Given the description of an element on the screen output the (x, y) to click on. 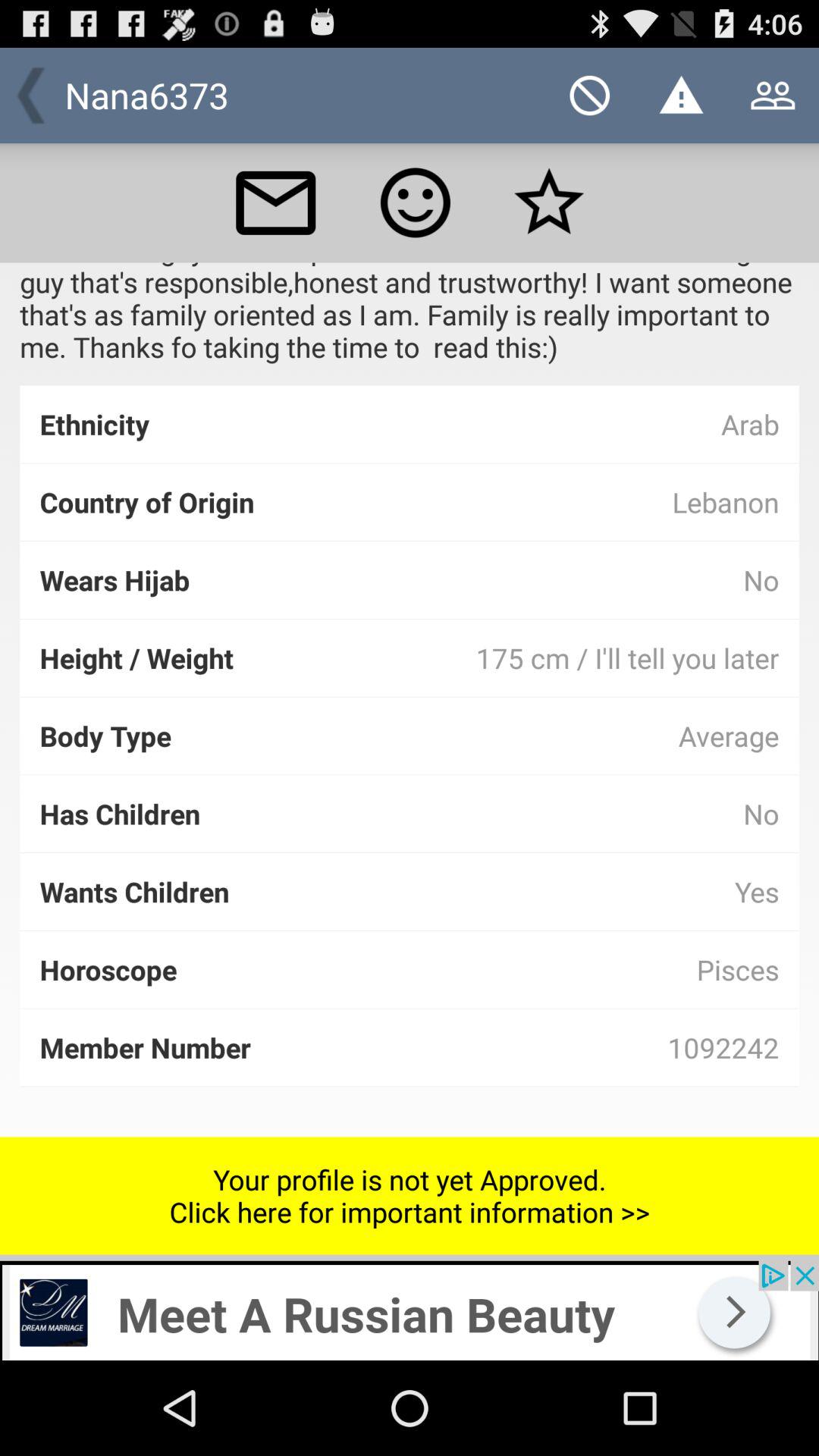
open advertisement (409, 1310)
